Given the description of an element on the screen output the (x, y) to click on. 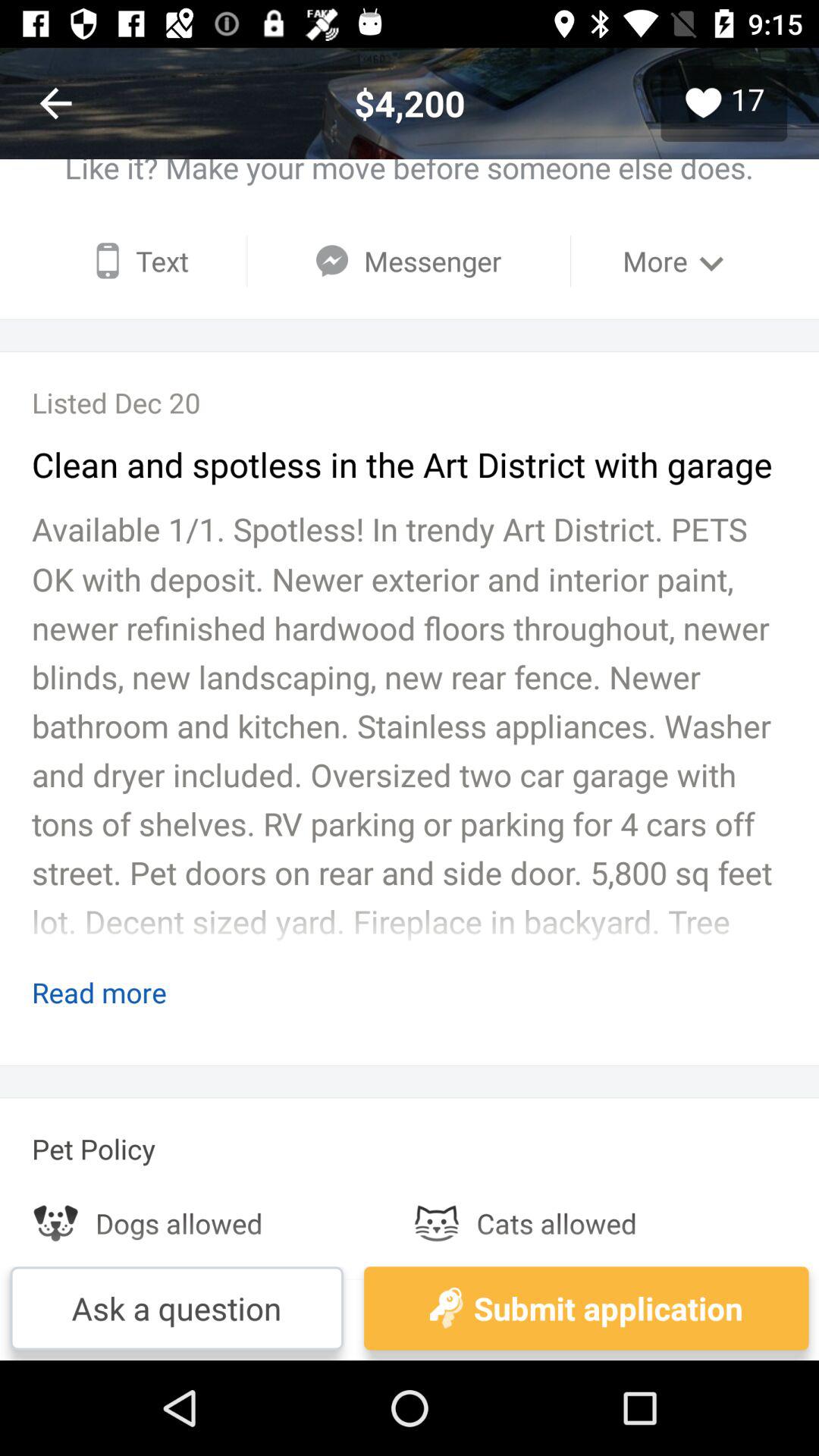
click the more drop down option (678, 260)
